Given the description of an element on the screen output the (x, y) to click on. 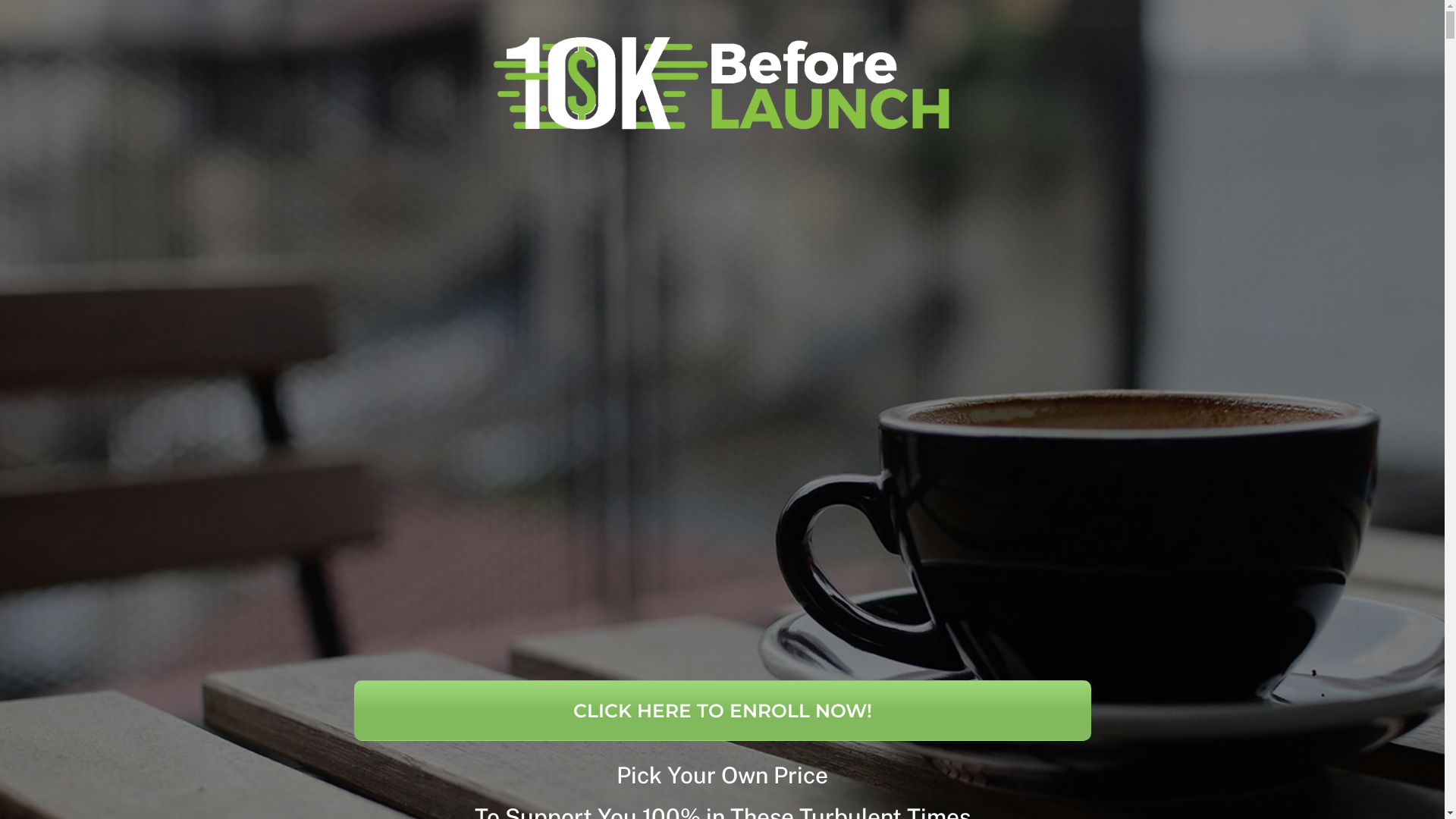
CLICK HERE TO ENROLL NOW! Element type: text (721, 710)
